Given the description of an element on the screen output the (x, y) to click on. 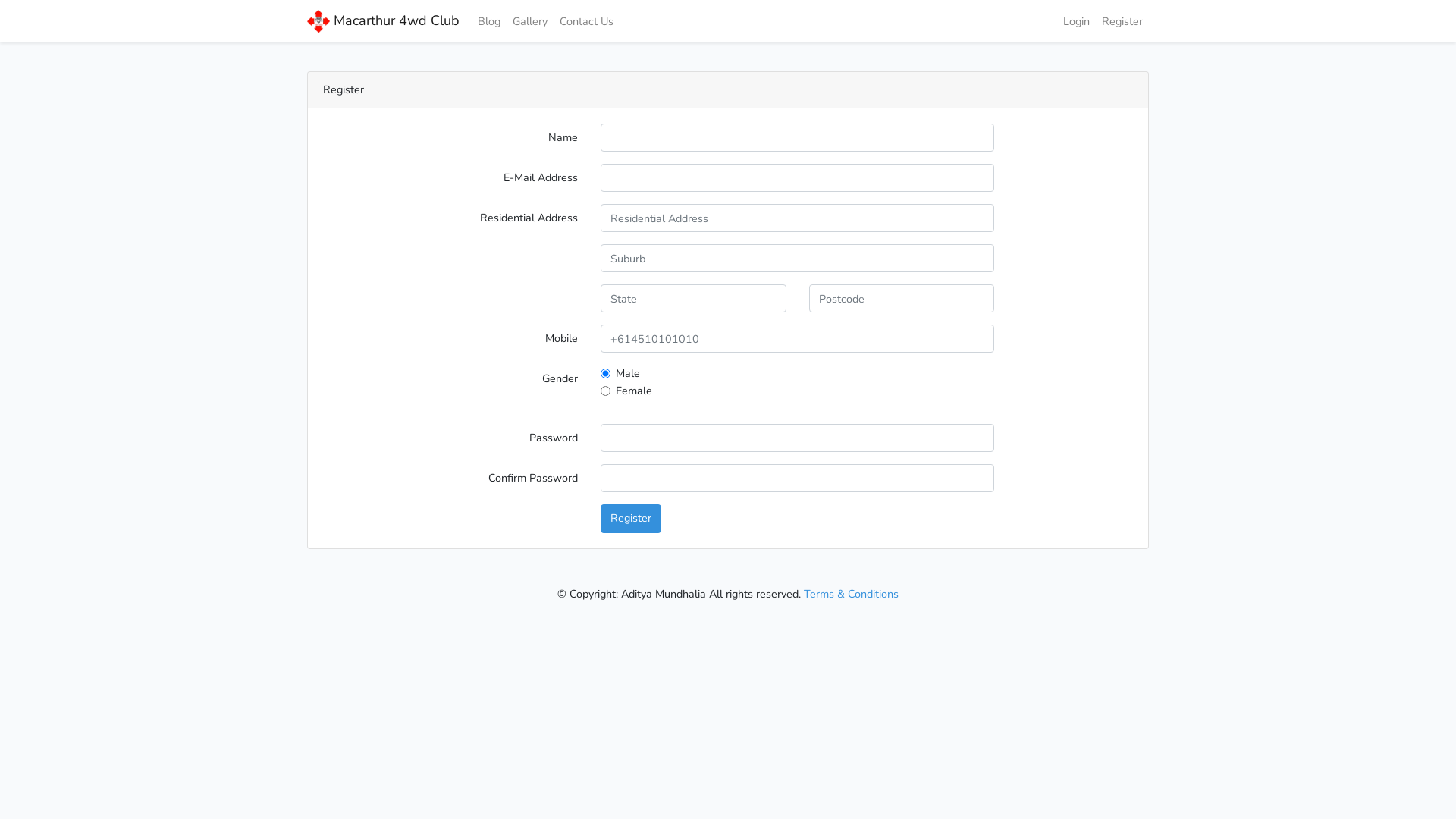
Login Element type: text (1076, 21)
Register Element type: text (630, 518)
Contact Us Element type: text (586, 21)
Gallery Element type: text (529, 21)
Macarthur 4wd Club Element type: text (383, 21)
Blog Element type: text (488, 21)
Register Element type: text (1121, 21)
Terms & Conditions Element type: text (850, 593)
